Given the description of an element on the screen output the (x, y) to click on. 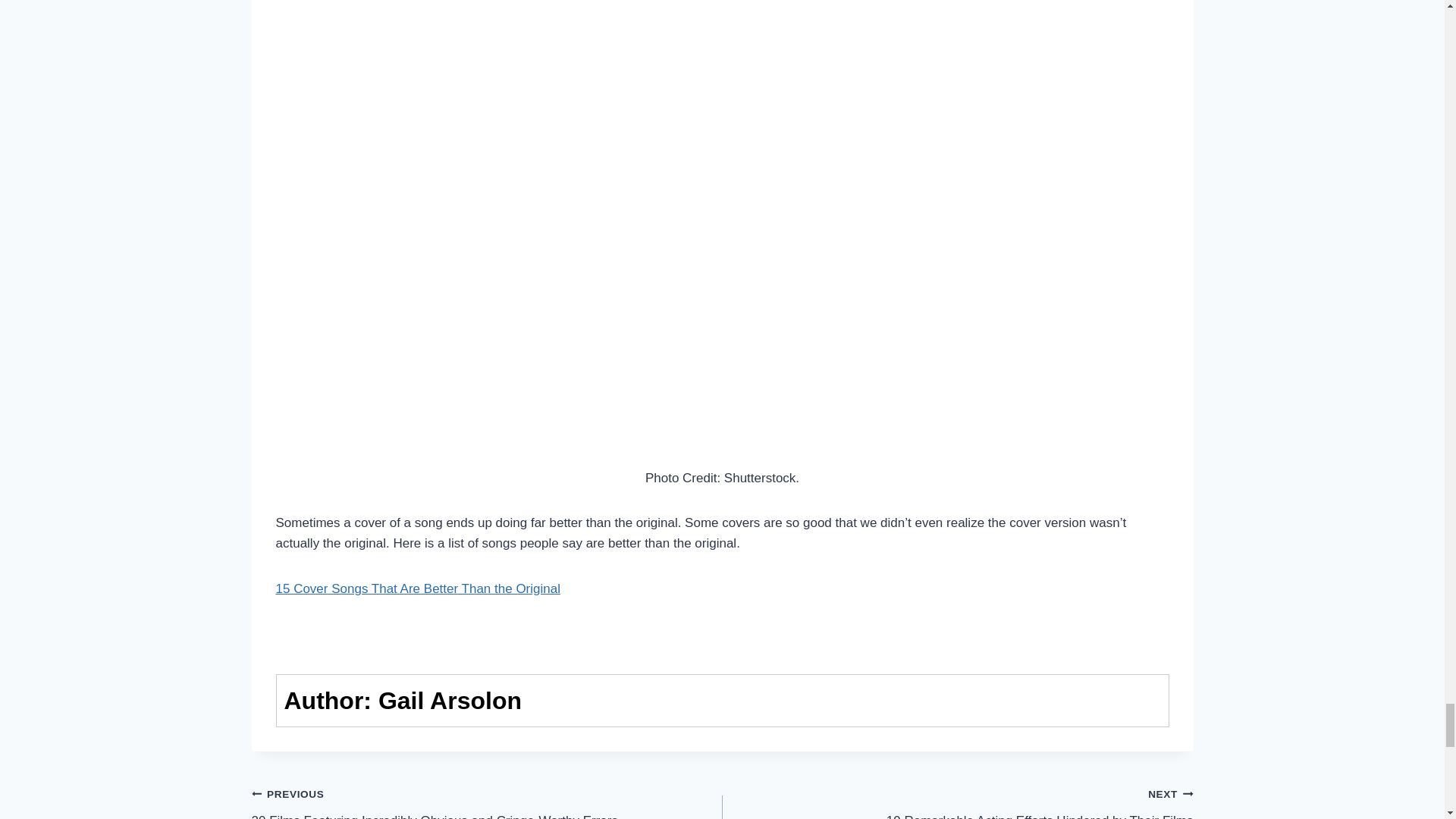
15 Cover Songs That Are Better Than the Original (957, 800)
Author: Gail Arsolon (418, 588)
